Given the description of an element on the screen output the (x, y) to click on. 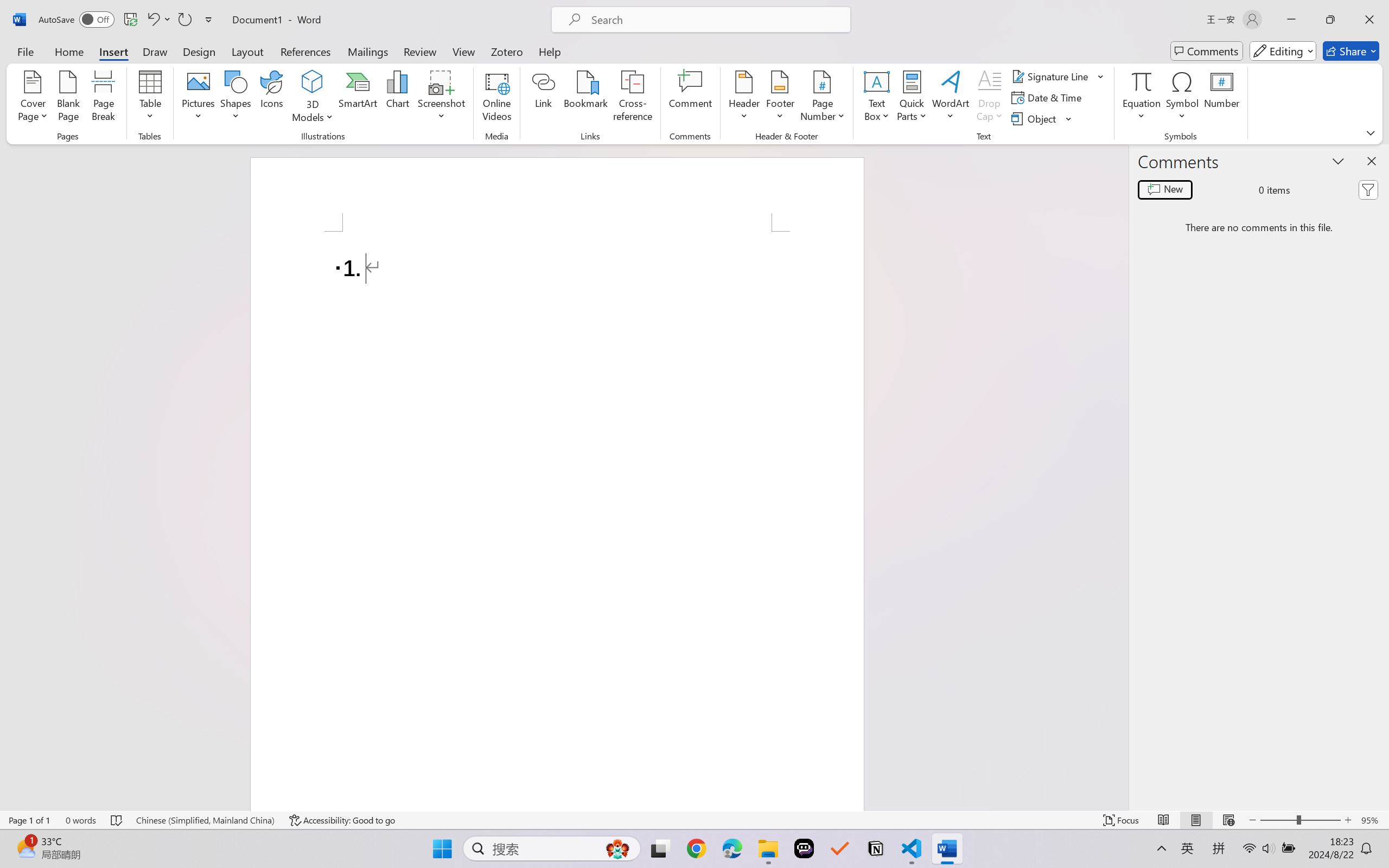
3D Models (312, 81)
Text Box (876, 97)
Equation (1141, 97)
WordArt (950, 97)
Number... (1221, 97)
Comment (689, 97)
Page Number (822, 97)
